Given the description of an element on the screen output the (x, y) to click on. 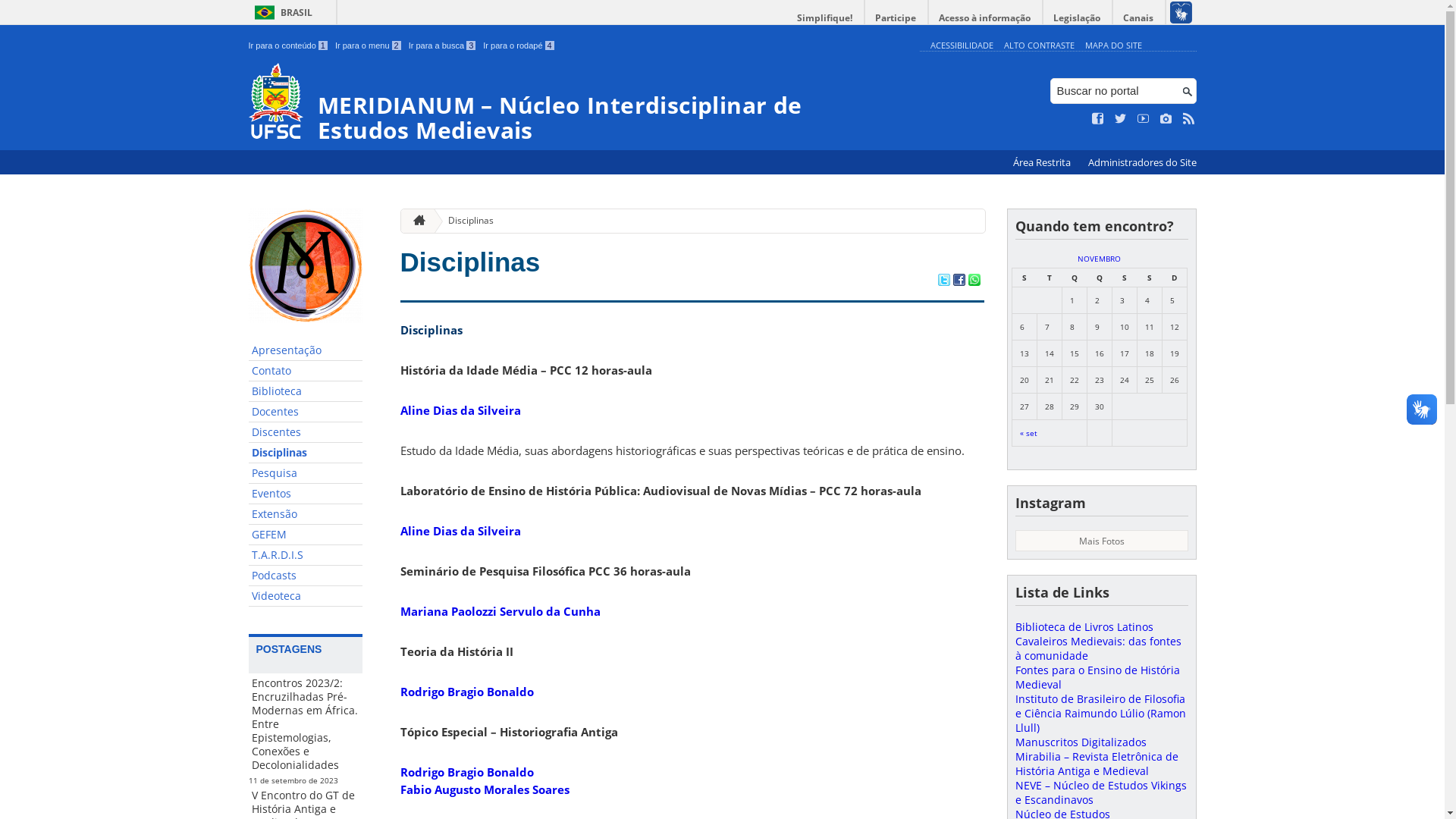
Disciplinas Element type: text (464, 220)
Siga no Twitter Element type: hover (1120, 118)
Biblioteca de Livros Latinos Element type: text (1083, 626)
Aline Dias da Silveira Element type: text (460, 530)
BRASIL Element type: text (280, 12)
Curta no Facebook Element type: hover (1098, 118)
Rodrigo Bragio Bonaldo Element type: text (466, 771)
GEFEM Element type: text (305, 534)
Disciplinas Element type: text (305, 452)
Fabio Augusto Morales Soares Element type: text (484, 789)
Aline Dias da Silveira Element type: text (460, 409)
Rodrigo Bragio Bonaldo Element type: text (466, 691)
Canais Element type: text (1138, 18)
Eventos Element type: text (305, 493)
Ir para o menu 2 Element type: text (368, 45)
Videoteca Element type: text (305, 596)
MAPA DO SITE Element type: text (1112, 44)
ALTO CONTRASTE Element type: text (1039, 44)
Compartilhar no WhatsApp Element type: hover (973, 280)
Mais Fotos Element type: text (1100, 540)
Pesquisa Element type: text (305, 473)
Simplifique! Element type: text (825, 18)
Disciplinas Element type: text (470, 261)
Docentes Element type: text (305, 411)
Administradores do Site Element type: text (1141, 162)
Mariana Paolozzi Servulo da Cunha Element type: text (500, 610)
Manuscritos Digitalizados Element type: text (1079, 741)
NOVEMBRO Element type: text (1098, 258)
Compartilhar no Twitter Element type: hover (943, 280)
Participe Element type: text (895, 18)
Biblioteca Element type: text (305, 391)
Podcasts Element type: text (305, 575)
T.A.R.D.I.S Element type: text (305, 555)
Ir para a busca 3 Element type: text (442, 45)
Veja no Instagram Element type: hover (1166, 118)
Discentes Element type: text (305, 432)
ACESSIBILIDADE Element type: text (960, 44)
Contato Element type: text (305, 370)
Compartilhar no Facebook Element type: hover (958, 280)
